Given the description of an element on the screen output the (x, y) to click on. 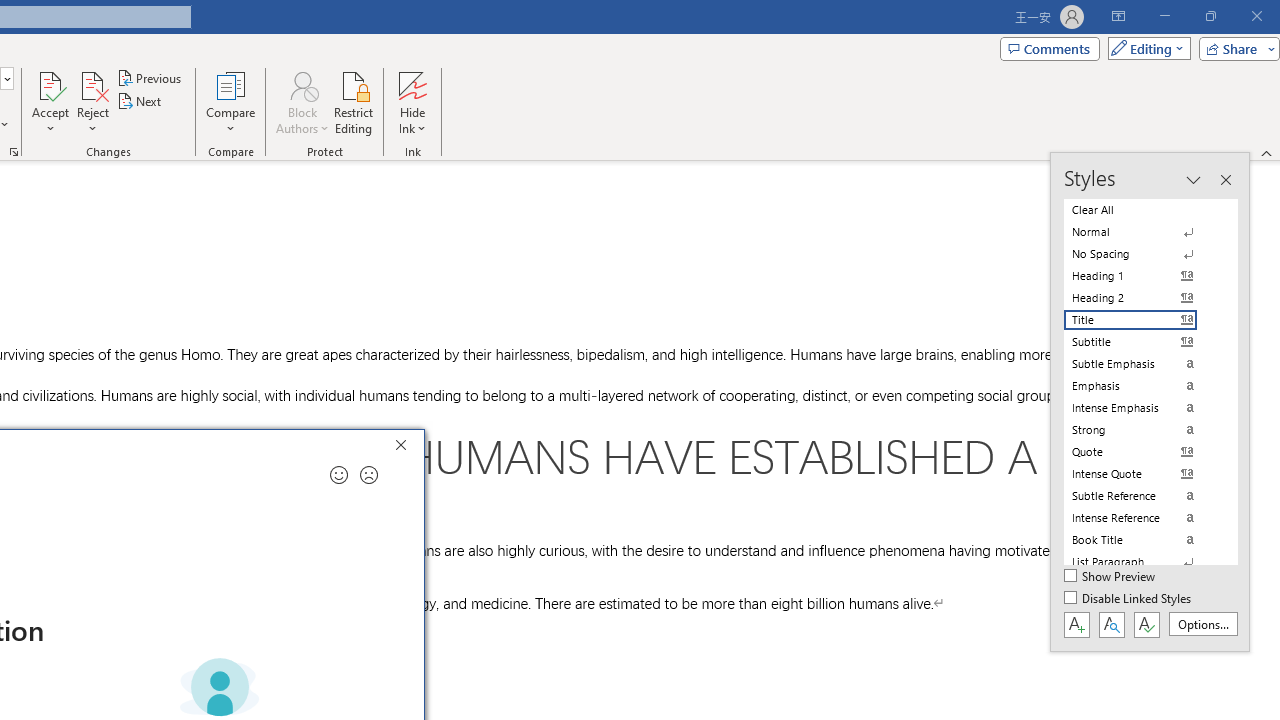
Send a frown for feedback (369, 475)
List Paragraph (1142, 561)
Heading 2 (1142, 297)
Accept and Move to Next (50, 84)
